Given the description of an element on the screen output the (x, y) to click on. 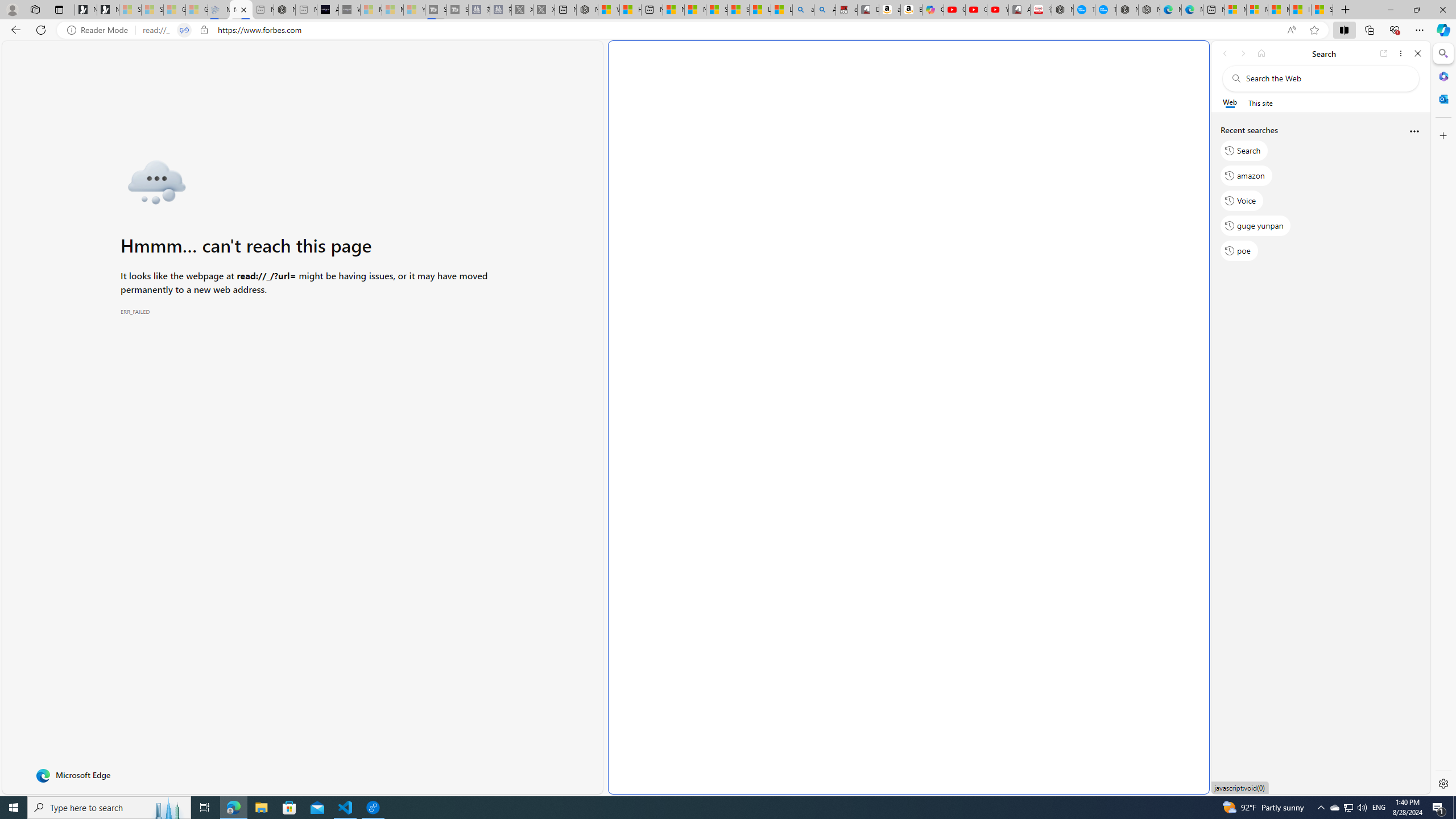
YouTube Kids - An App Created for Kids to Explore Content (997, 9)
Copilot (933, 9)
Outlook (1442, 98)
The most popular Google 'how to' searches (1105, 9)
Huge shark washes ashore at New York City beach | Watch (630, 9)
Microsoft 365 (1442, 76)
Microsoft Start Sports - Sleeping (371, 9)
amazon - Search (802, 9)
poe (1238, 250)
